Given the description of an element on the screen output the (x, y) to click on. 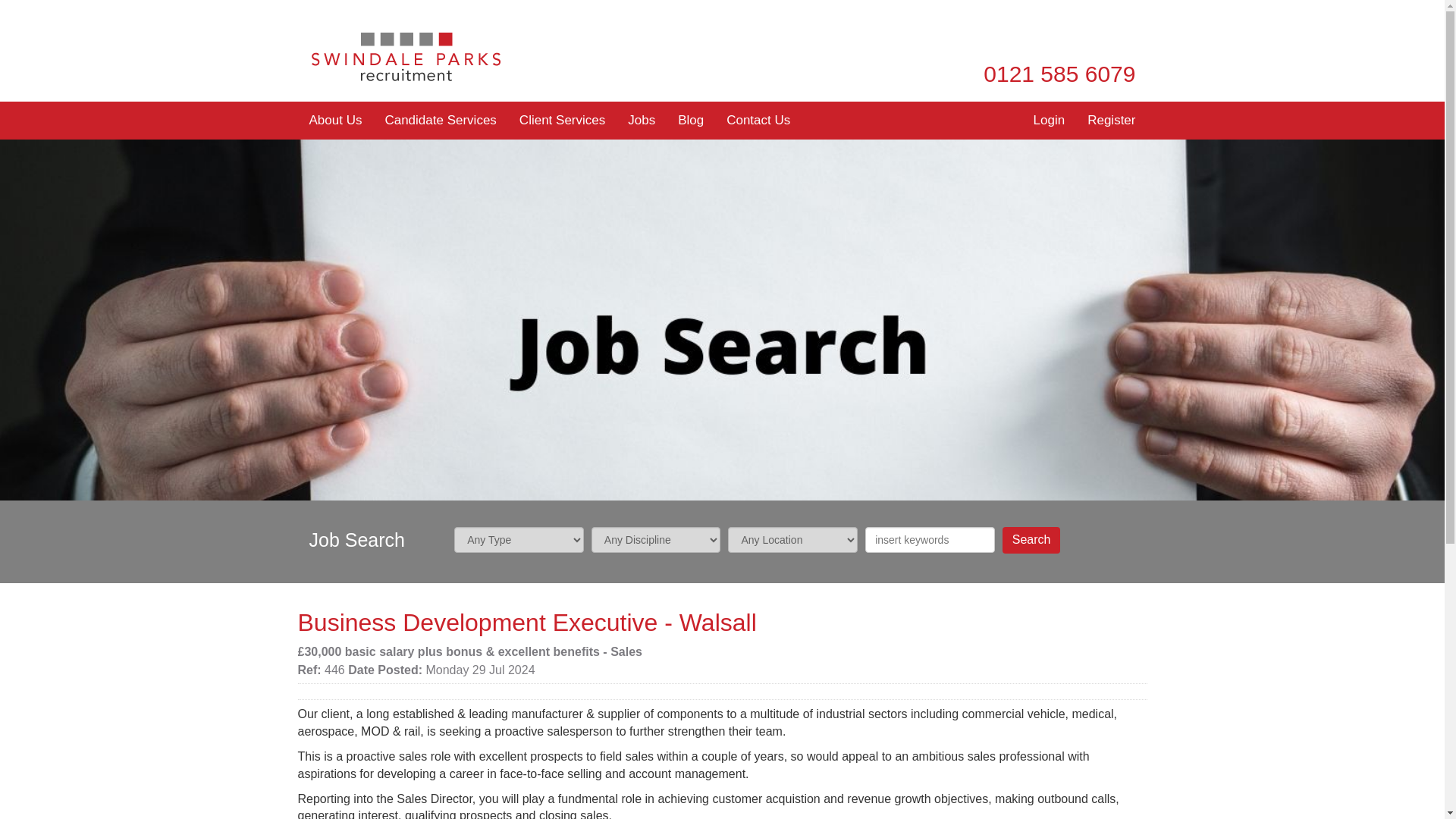
Jobs (640, 120)
facebook (1094, 37)
Candidate Services (439, 120)
linkedin (1066, 37)
Blog (690, 120)
0121 585 6079 (1059, 72)
Search (1032, 540)
Contact Us (758, 120)
Search (1032, 540)
About Us (334, 120)
Login (1049, 120)
Client Services (561, 120)
Search (1032, 540)
Register (1111, 120)
